Given the description of an element on the screen output the (x, y) to click on. 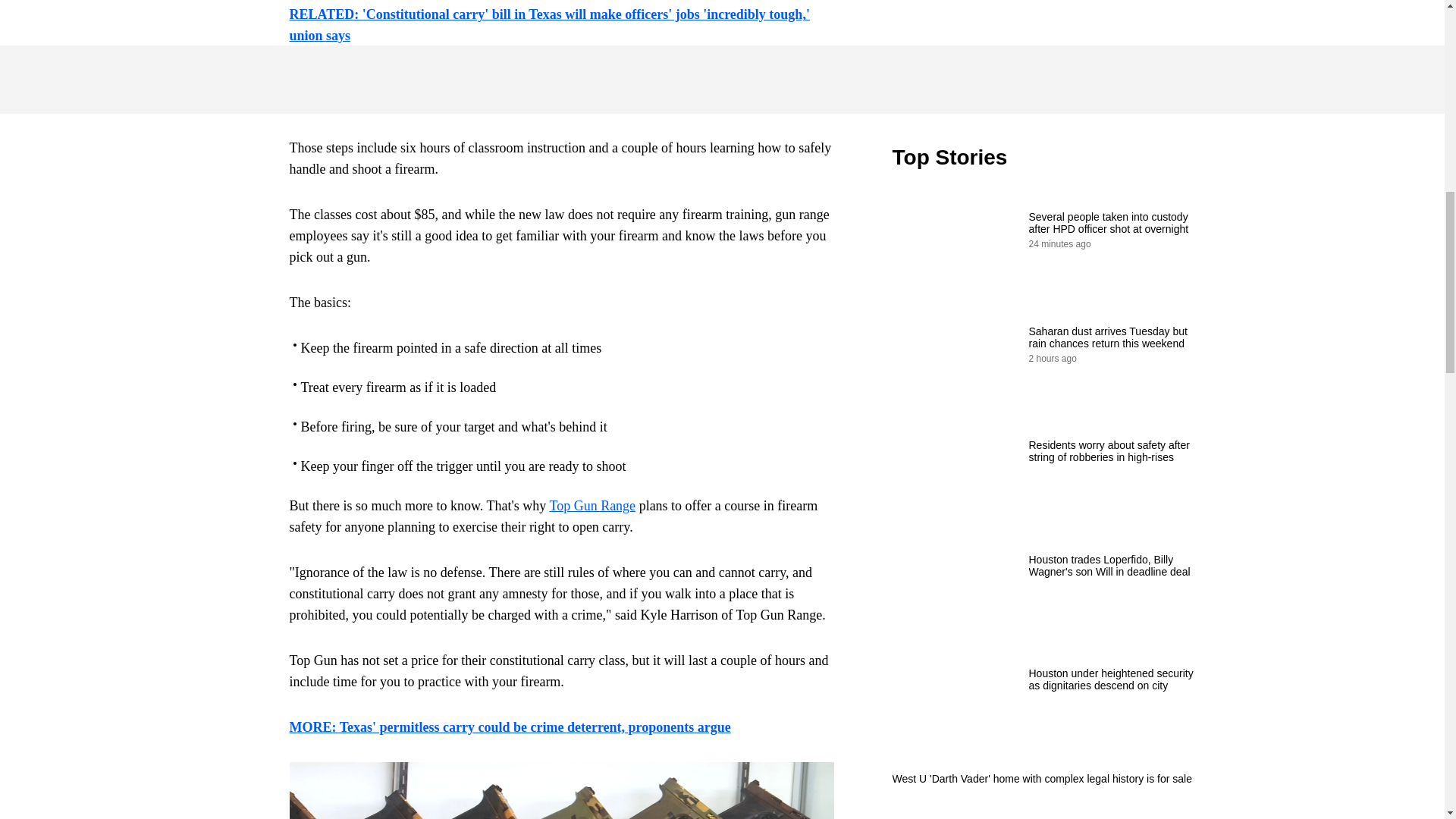
video.title (1043, 48)
